Given the description of an element on the screen output the (x, y) to click on. 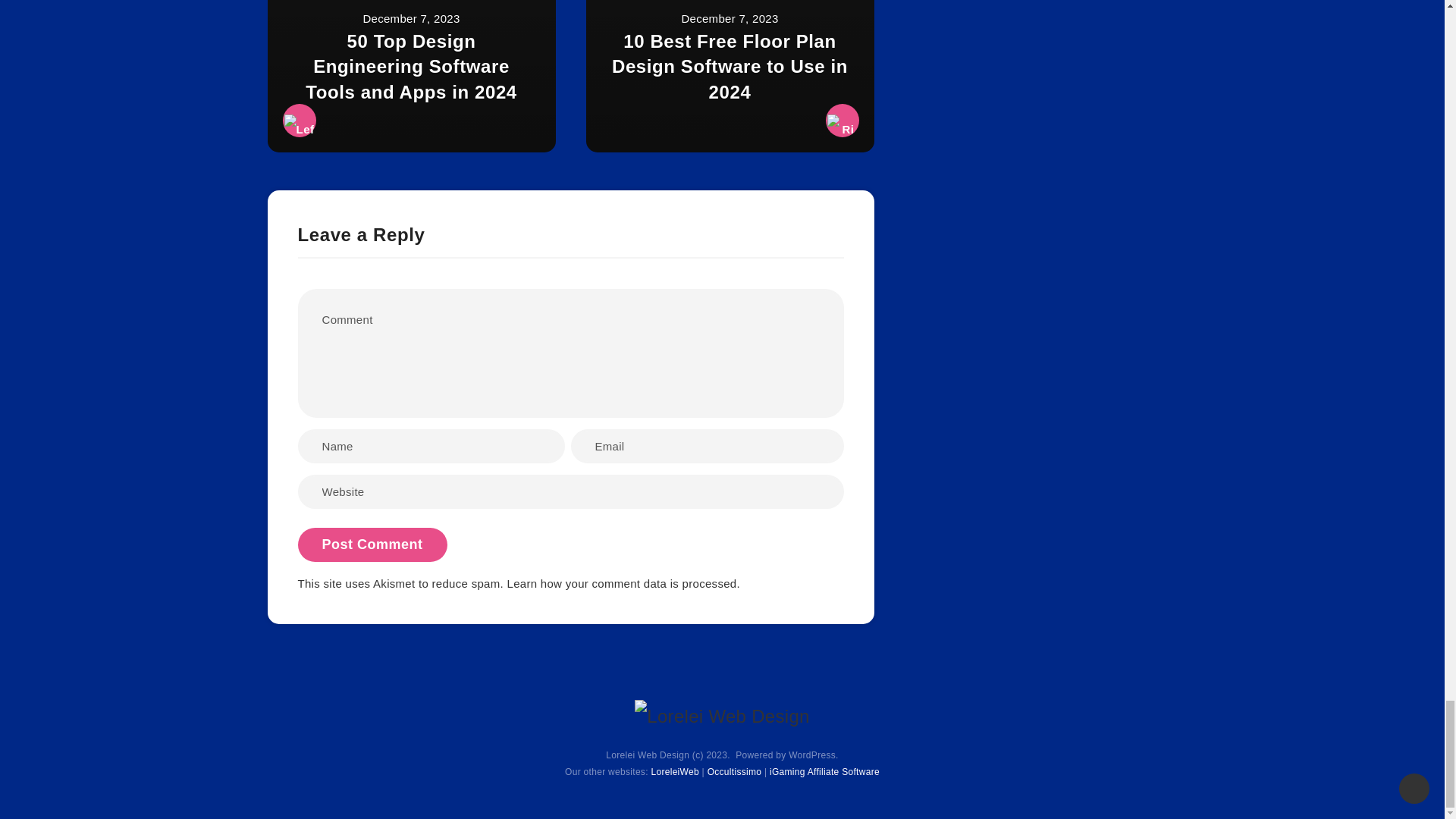
Post Comment (371, 544)
LoreleiWeb (674, 772)
Learn how your comment data is processed (621, 583)
Occultissimo (734, 772)
Post Comment (371, 544)
